Given the description of an element on the screen output the (x, y) to click on. 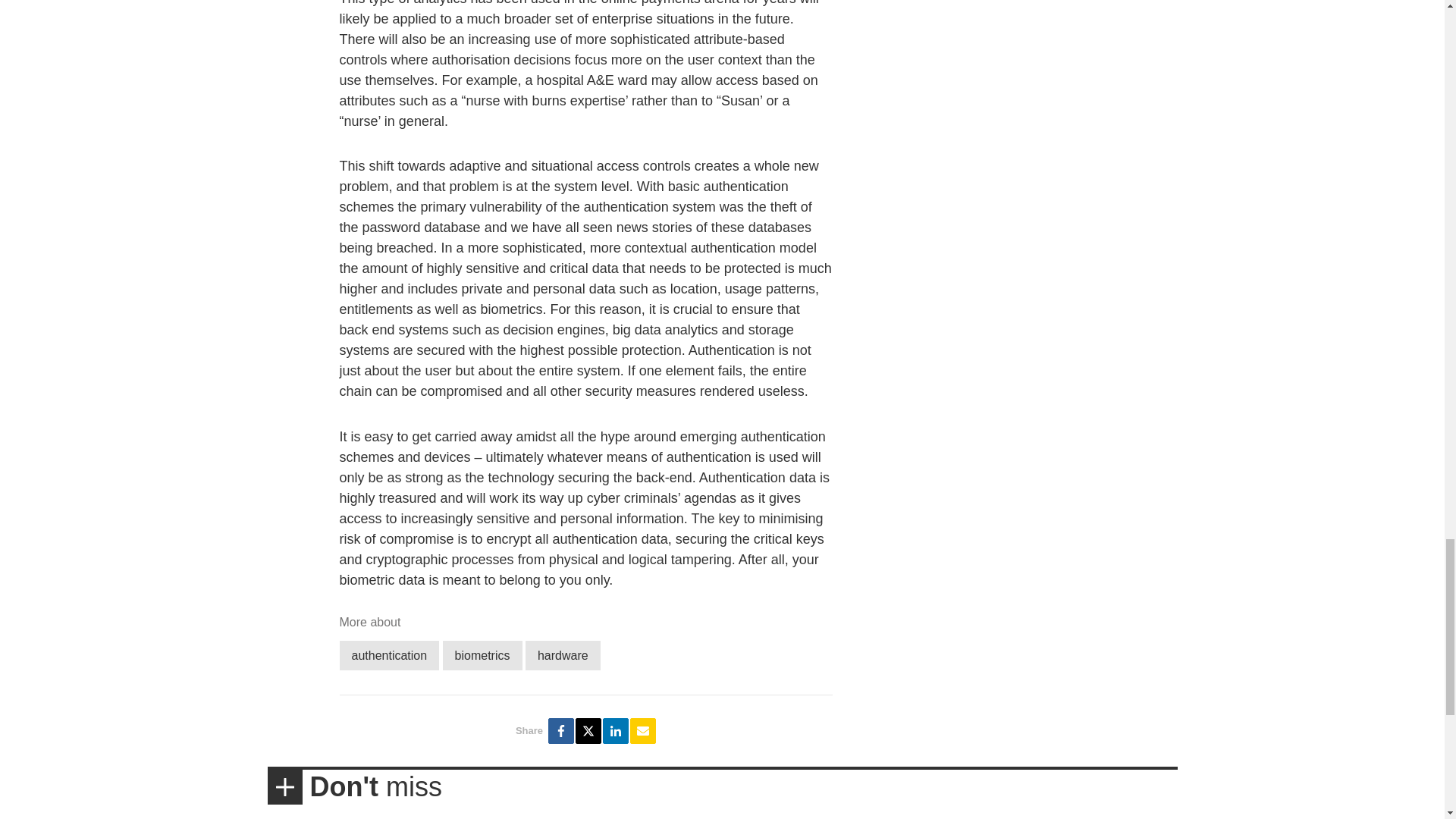
authentication (389, 655)
hardware (562, 655)
biometrics (482, 655)
authentication (389, 655)
biometrics (482, 655)
hardware (562, 655)
